Given the description of an element on the screen output the (x, y) to click on. 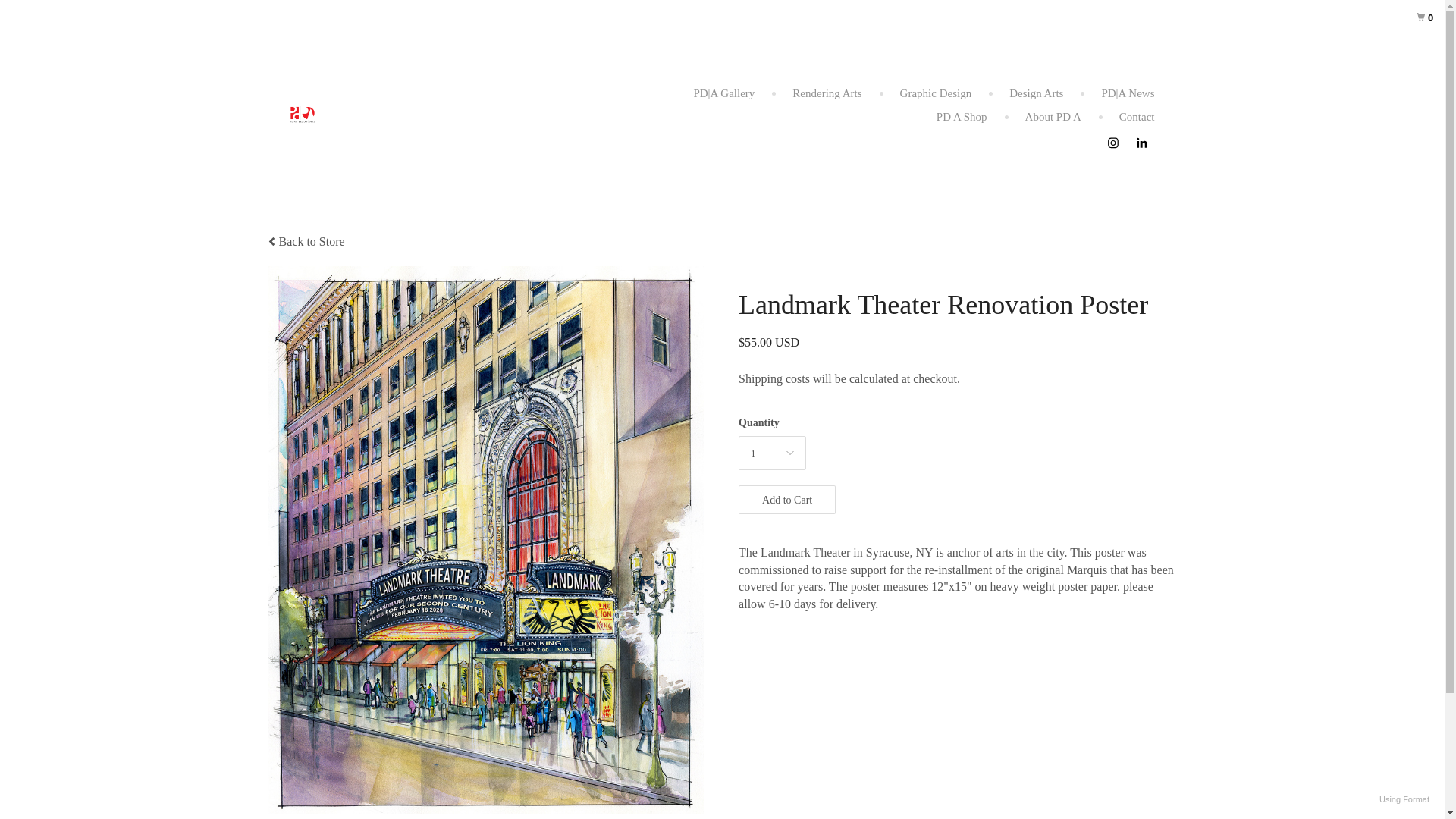
Back to Store (304, 241)
Design Arts (1035, 92)
Add to Cart (786, 499)
Rendering Arts (826, 92)
Graphic Design (935, 92)
Contact (1136, 116)
Using Format (1403, 799)
1 (772, 452)
0 (1411, 11)
